Given the description of an element on the screen output the (x, y) to click on. 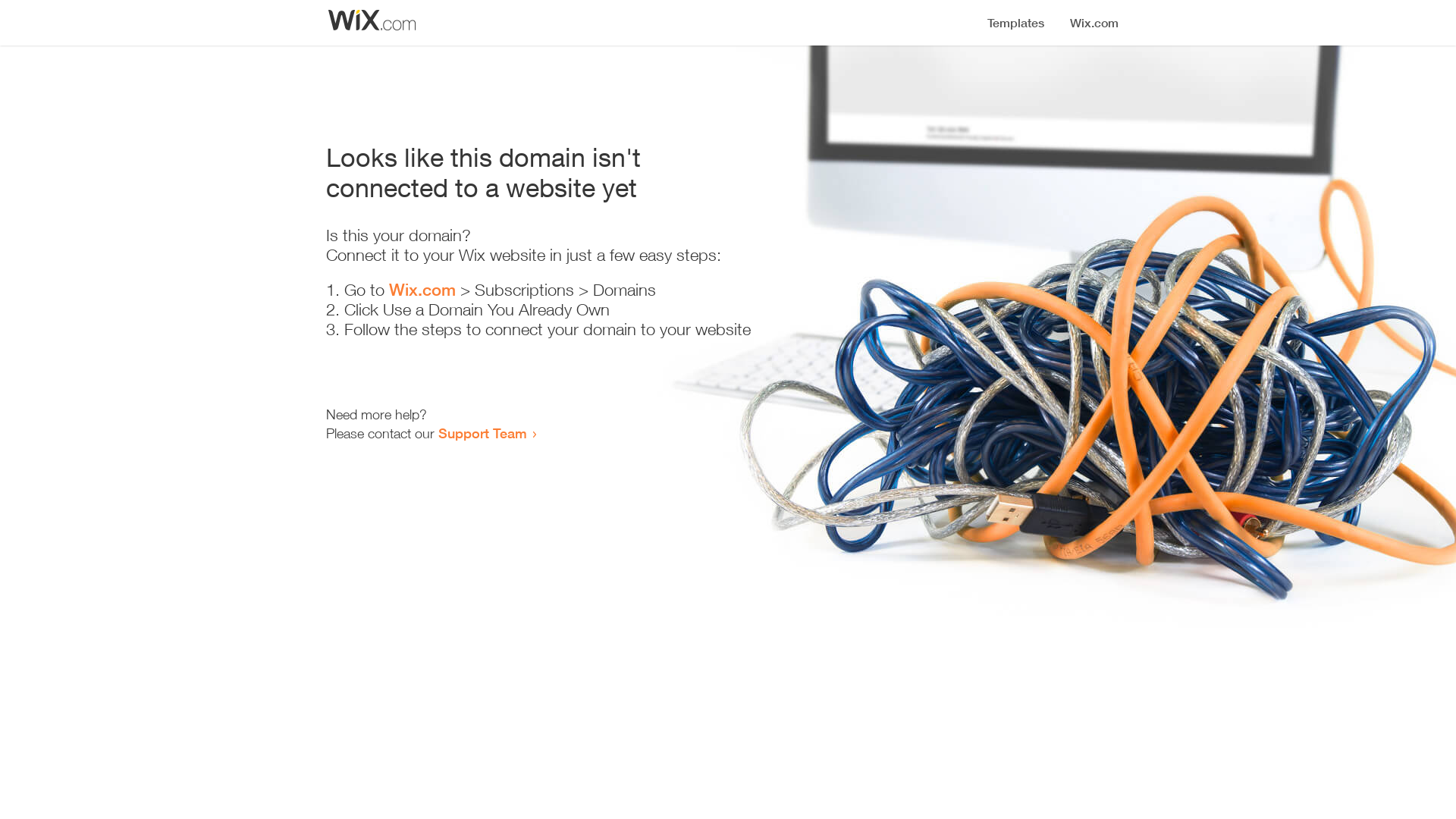
Wix.com Element type: text (422, 289)
Support Team Element type: text (482, 432)
